Given the description of an element on the screen output the (x, y) to click on. 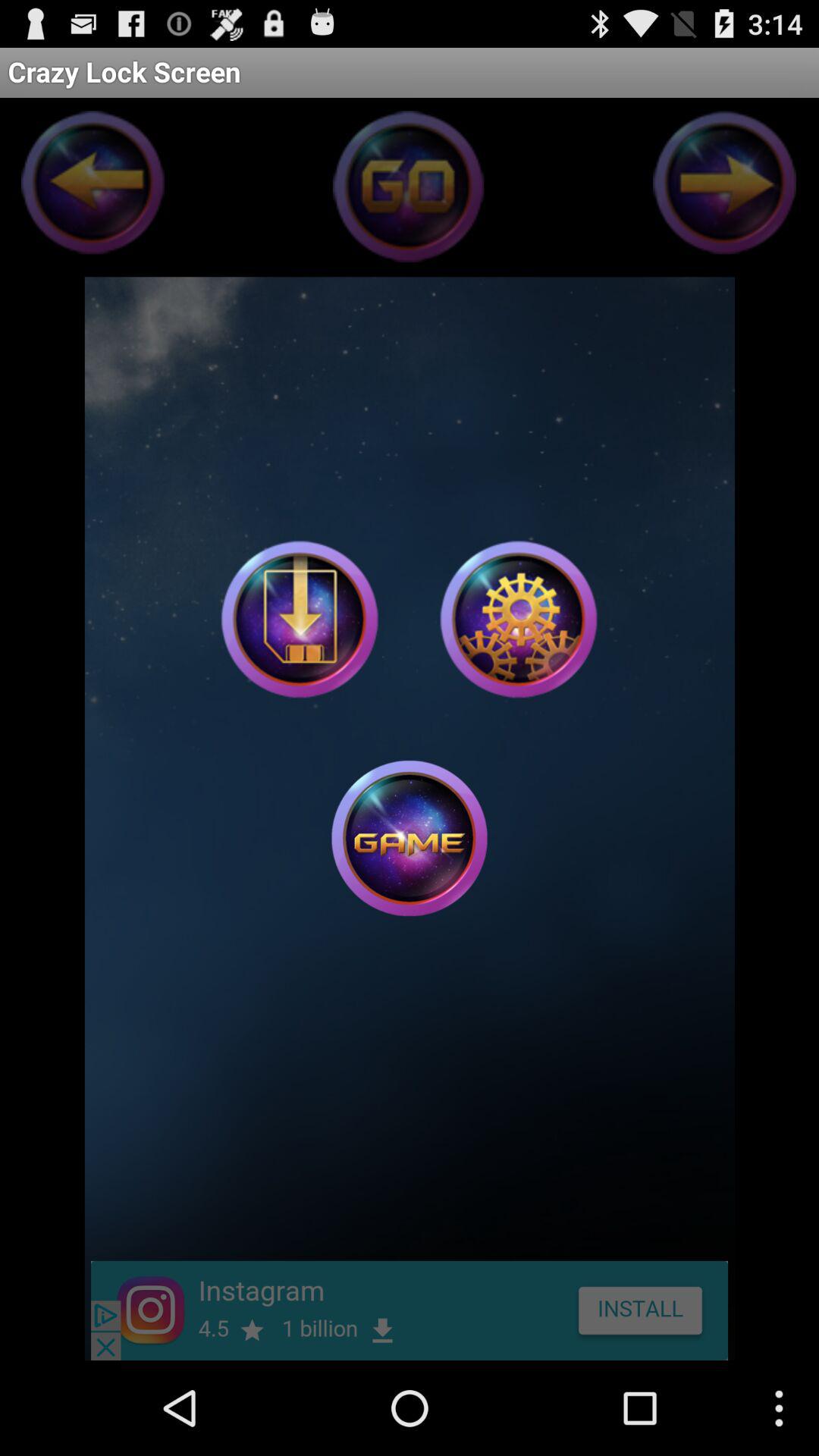
turn on the icon below the crazy lock screen (299, 618)
